Given the description of an element on the screen output the (x, y) to click on. 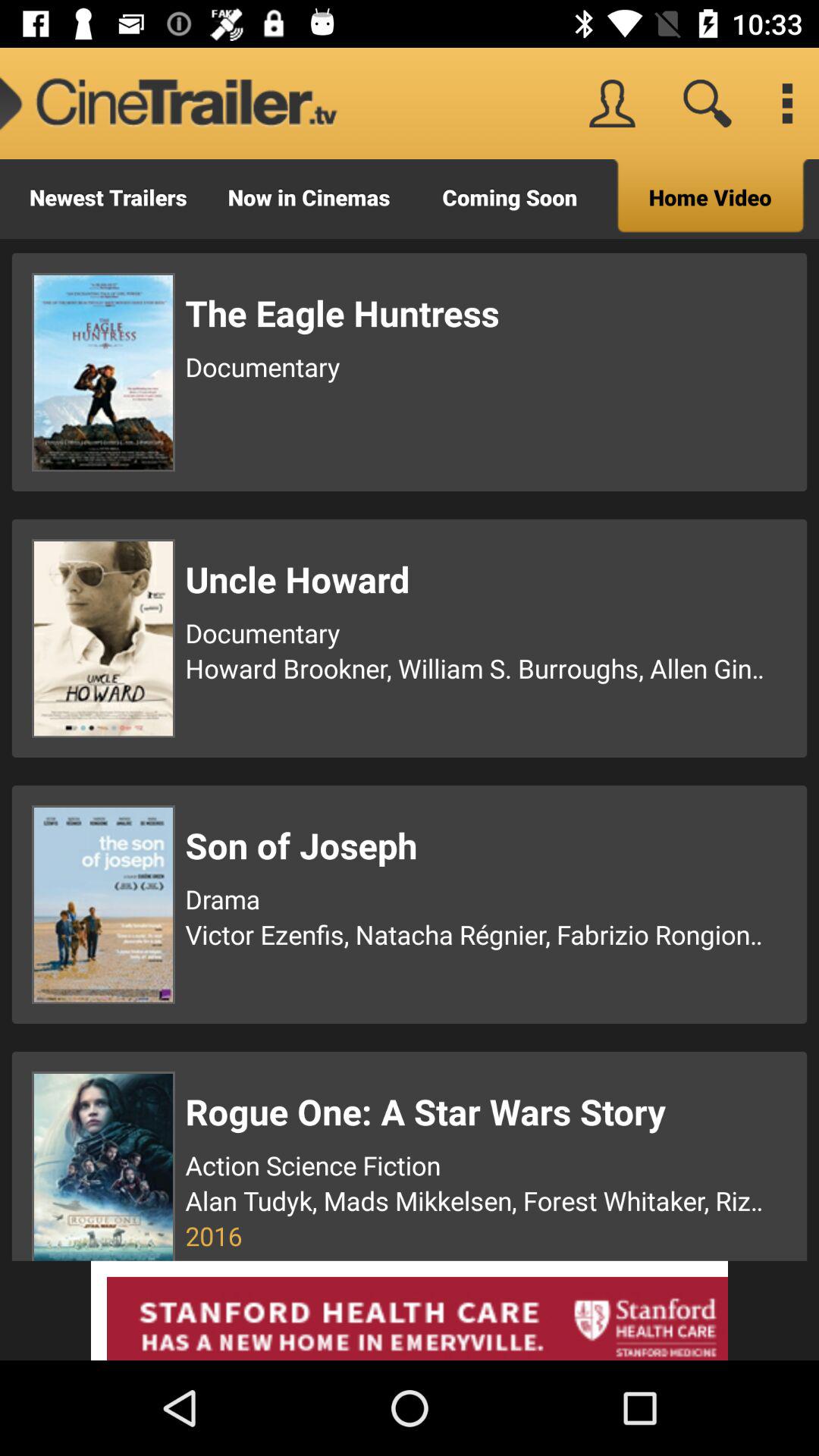
press icon above newest trailers (169, 103)
